Given the description of an element on the screen output the (x, y) to click on. 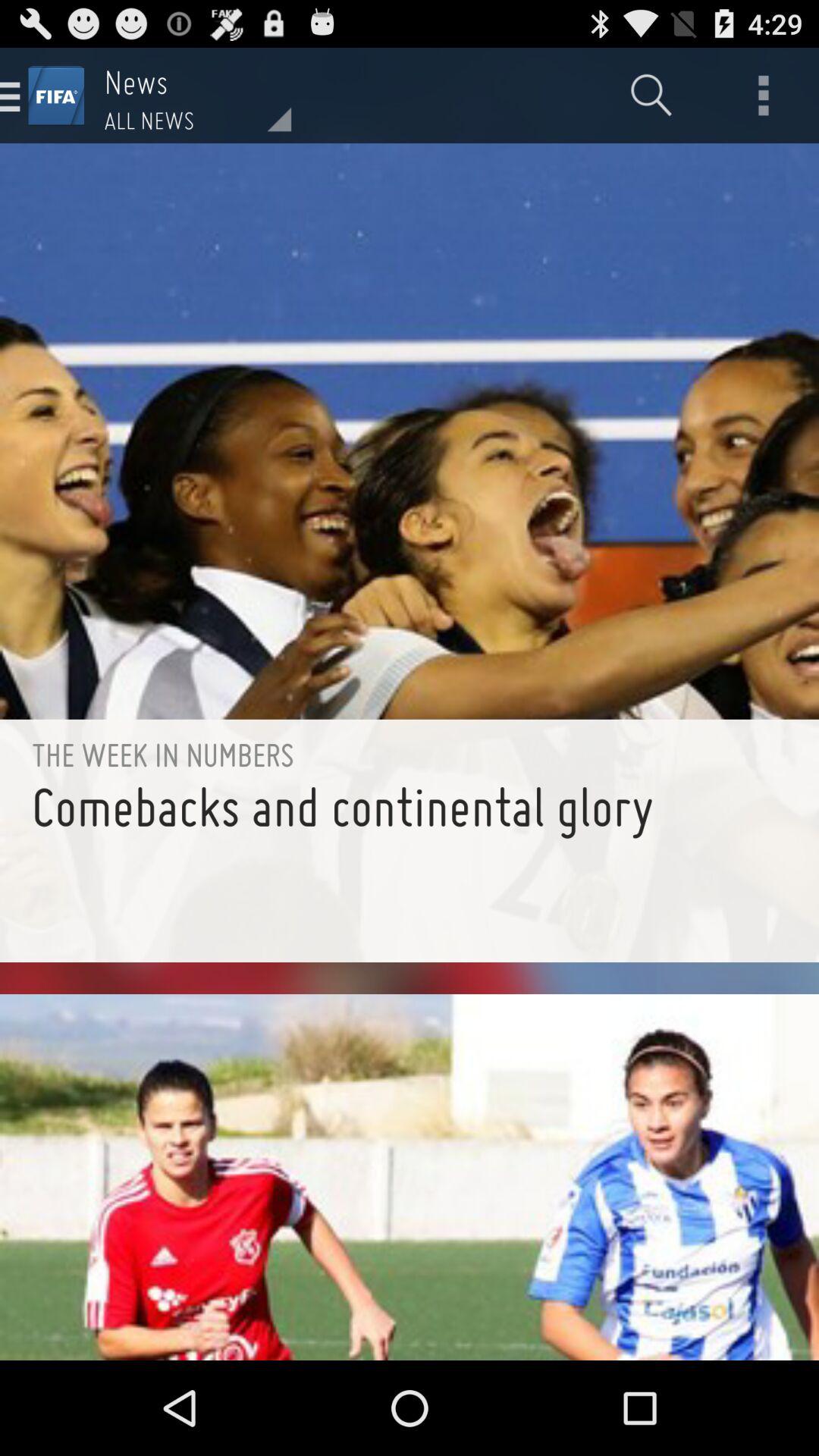
swipe until comebacks and continental icon (409, 868)
